Given the description of an element on the screen output the (x, y) to click on. 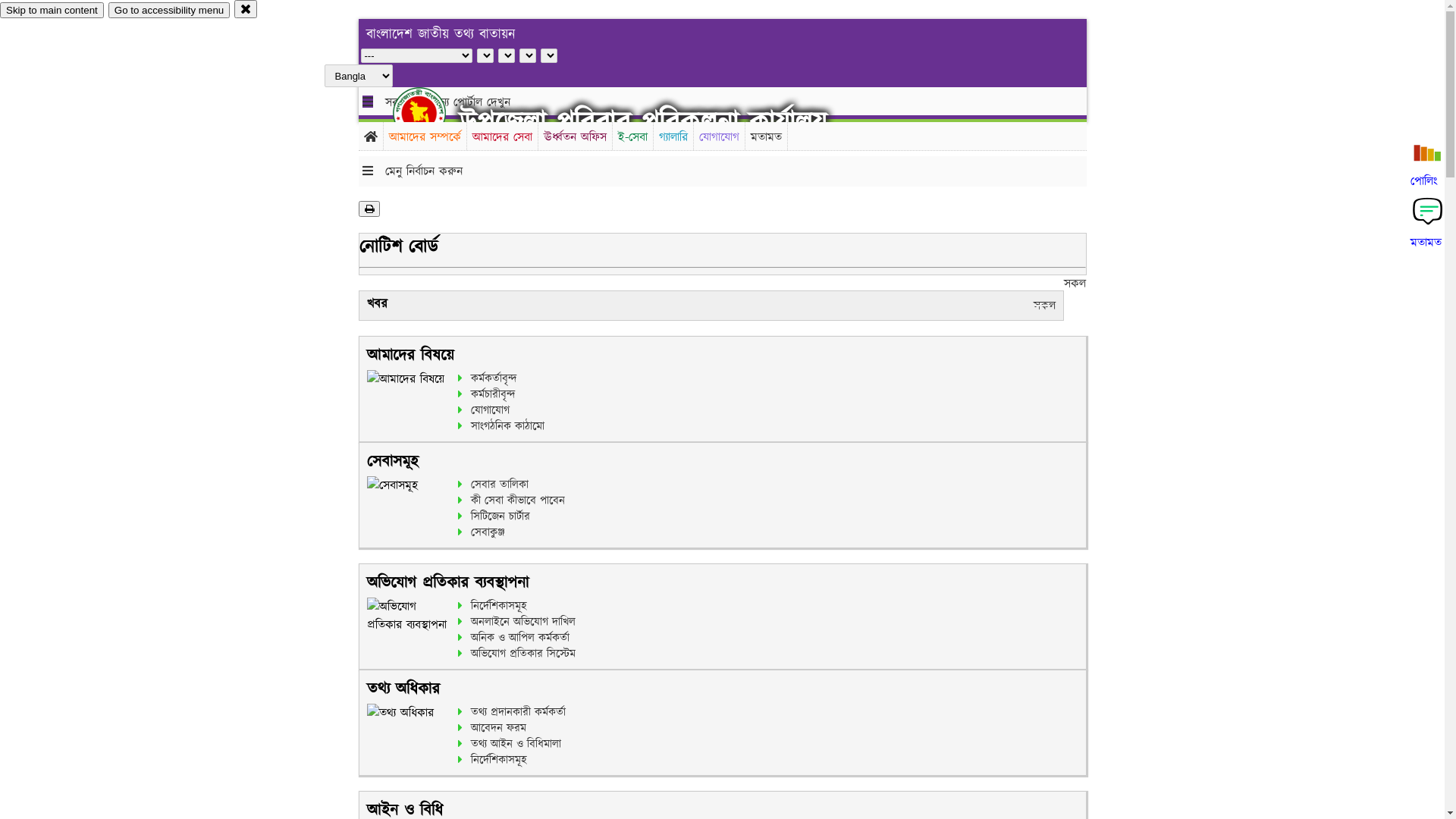

                
             Element type: hover (431, 112)
Go to accessibility menu Element type: text (168, 10)
Skip to main content Element type: text (51, 10)
close Element type: hover (245, 9)
